Given the description of an element on the screen output the (x, y) to click on. 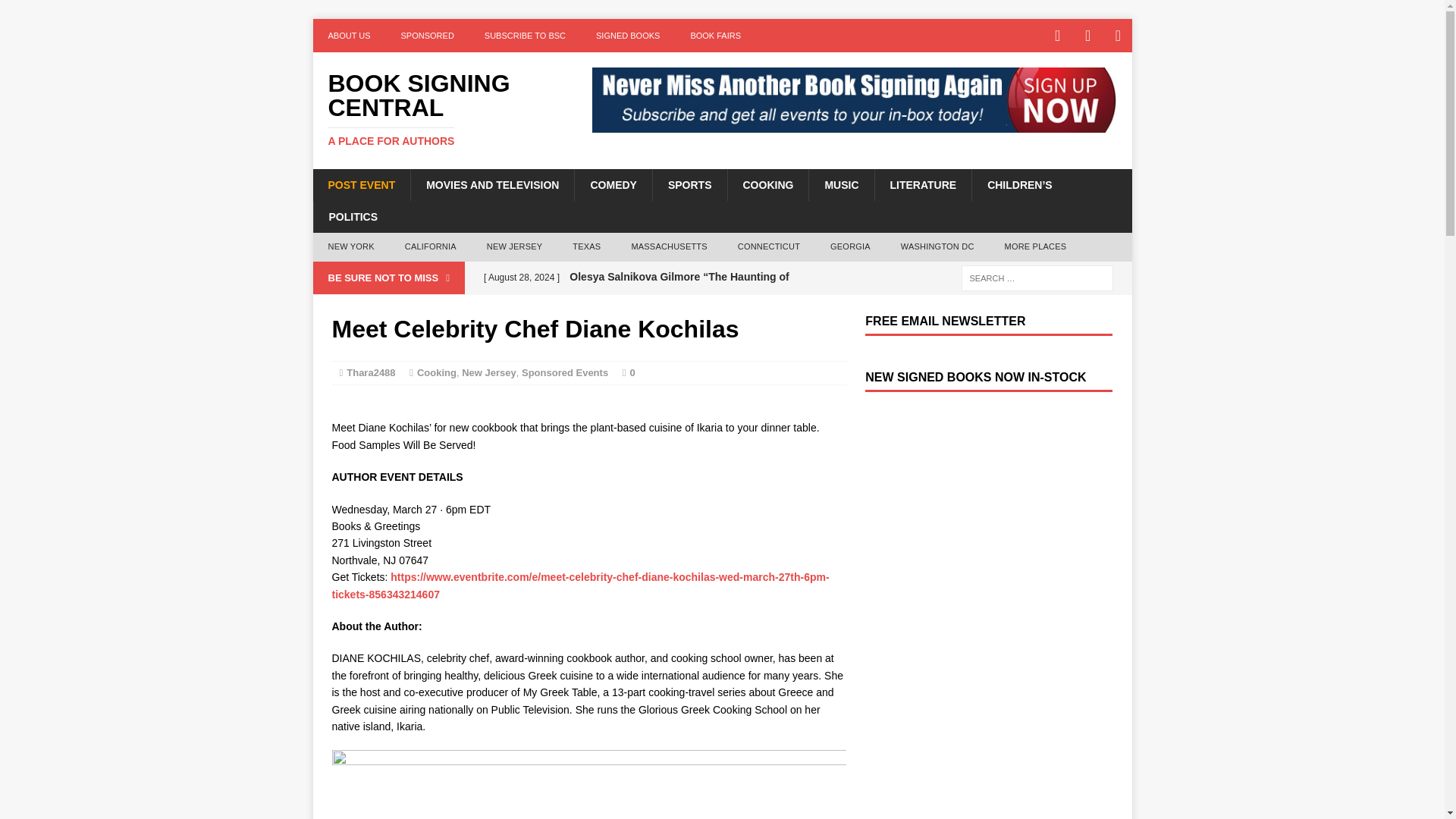
COMEDY (611, 184)
SUBSCRIBE TO BSC (524, 35)
WASHINGTON DC (937, 246)
CONNECTICUT (768, 246)
BOOK FAIRS (715, 35)
MUSIC (840, 184)
CALIFORNIA (430, 246)
Cooking (436, 372)
COOKING (767, 184)
LITERATURE (923, 184)
